Given the description of an element on the screen output the (x, y) to click on. 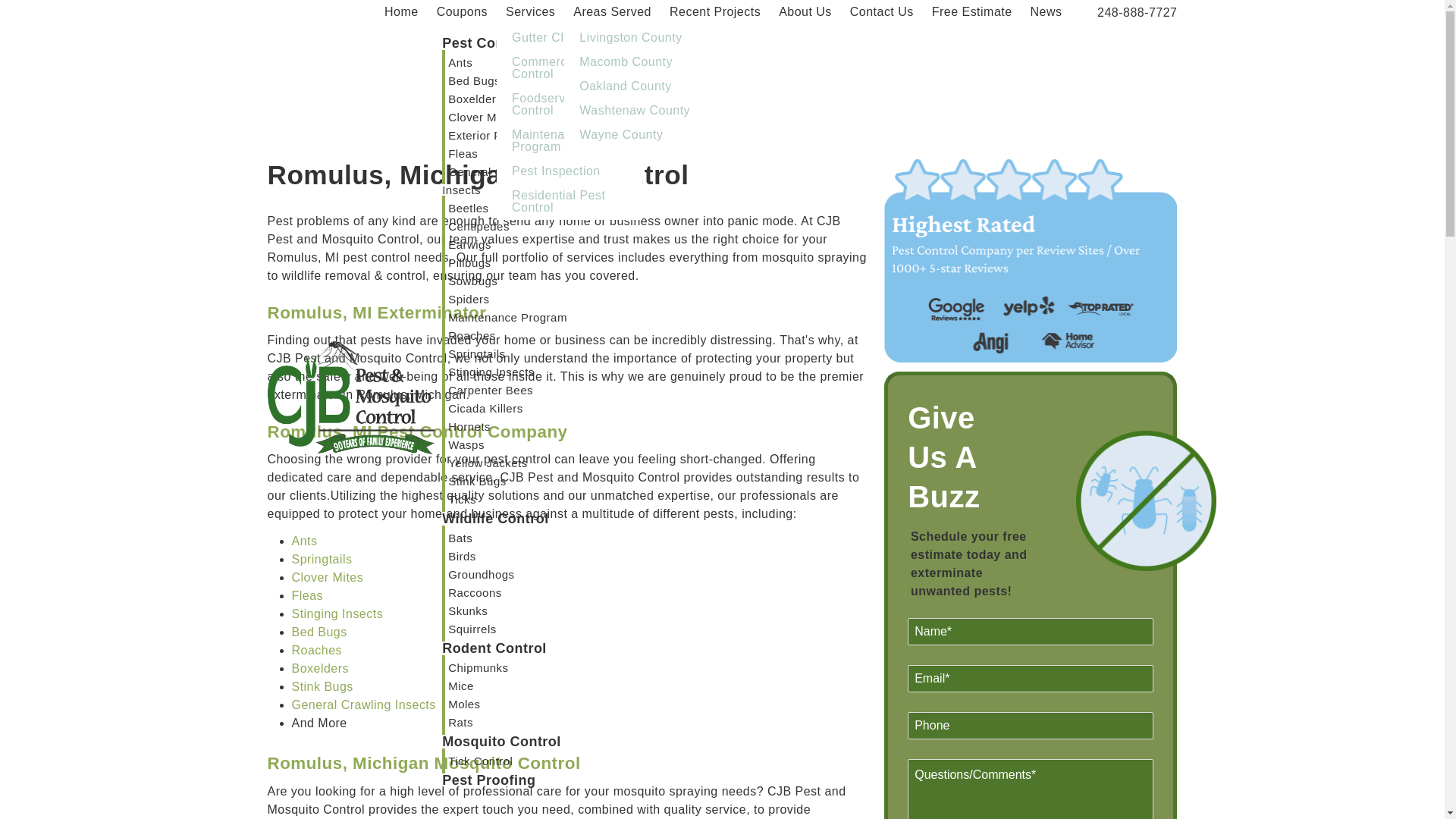
Bed Bugs (478, 80)
Maintenance Program (511, 317)
News (1046, 12)
Pest Control (484, 43)
Centipedes (482, 226)
Livingston County (637, 37)
Free Estimate (972, 12)
Home (349, 379)
Oakland County (637, 86)
Beetles (472, 207)
Washtenaw County (637, 110)
Gutter Cleaning (569, 37)
Exterior Pest Control (508, 135)
Residential Pest Control (569, 201)
Spiders (472, 299)
